Given the description of an element on the screen output the (x, y) to click on. 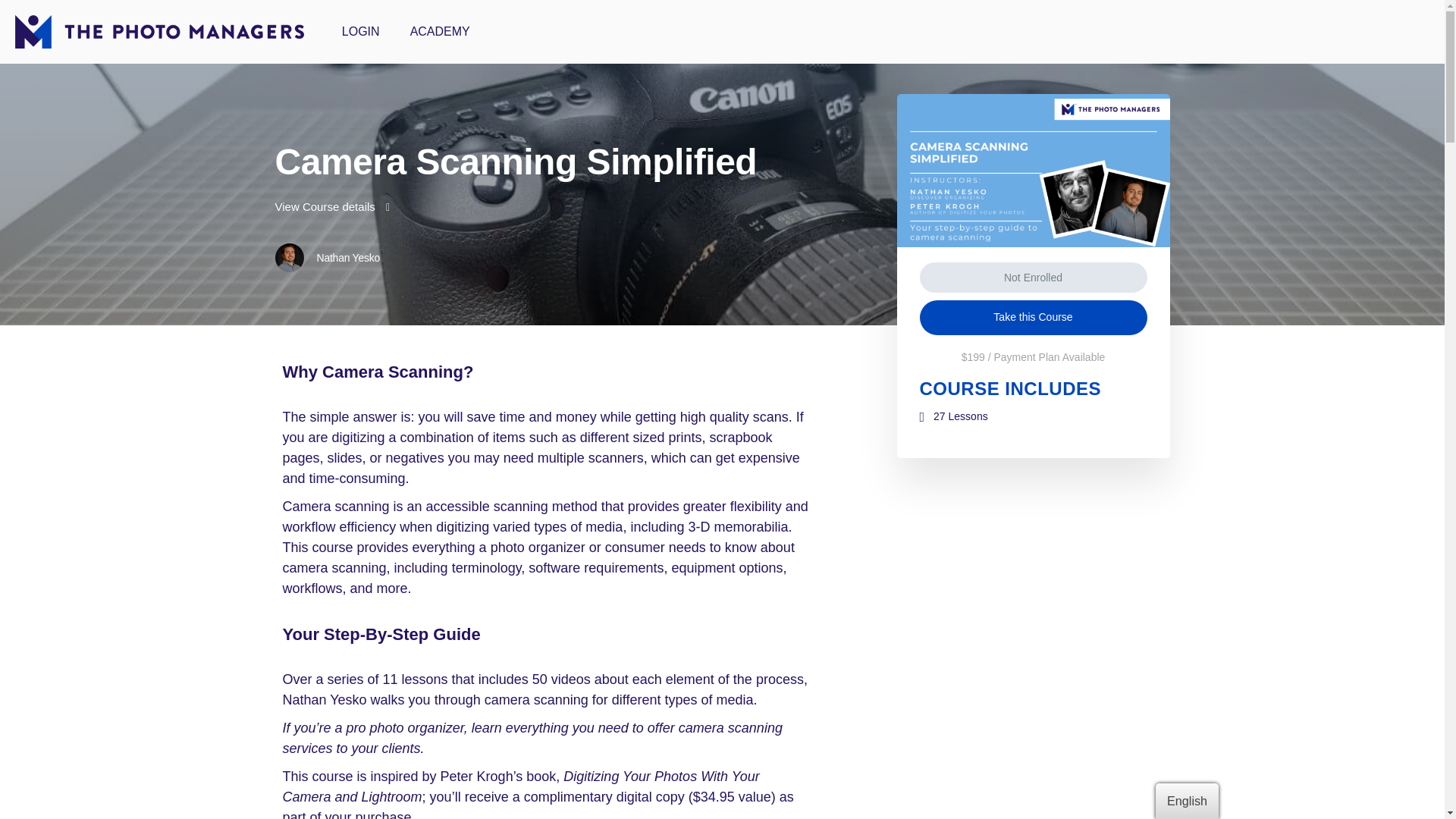
View Course details (332, 205)
Take this Course (1032, 317)
Nathan Yesko (327, 257)
Log In (527, 570)
ACADEMY (439, 31)
LOGIN (360, 31)
